Given the description of an element on the screen output the (x, y) to click on. 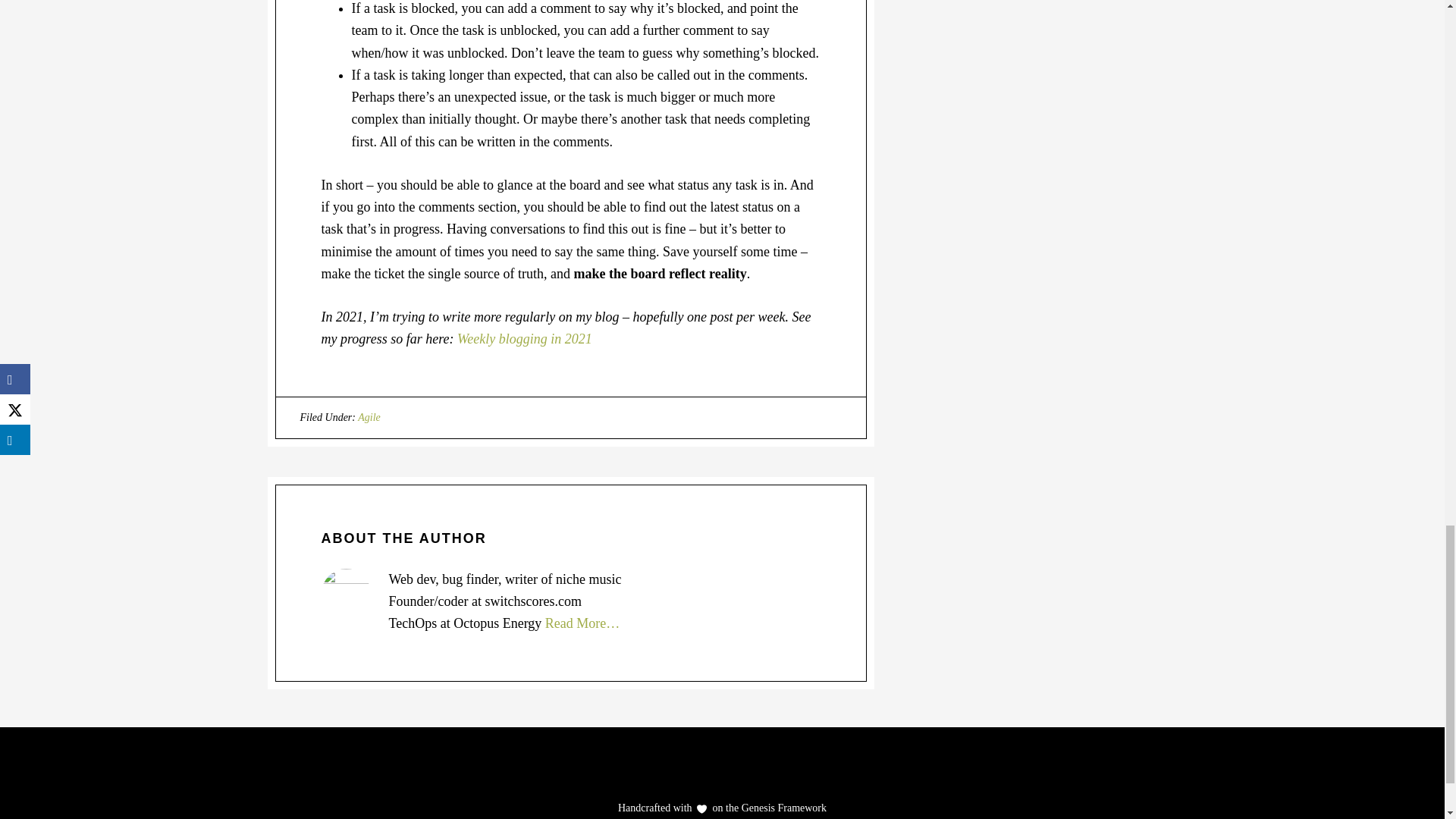
Genesis Framework (782, 808)
Weekly blogging in 2021 (524, 338)
Agile (369, 417)
